Given the description of an element on the screen output the (x, y) to click on. 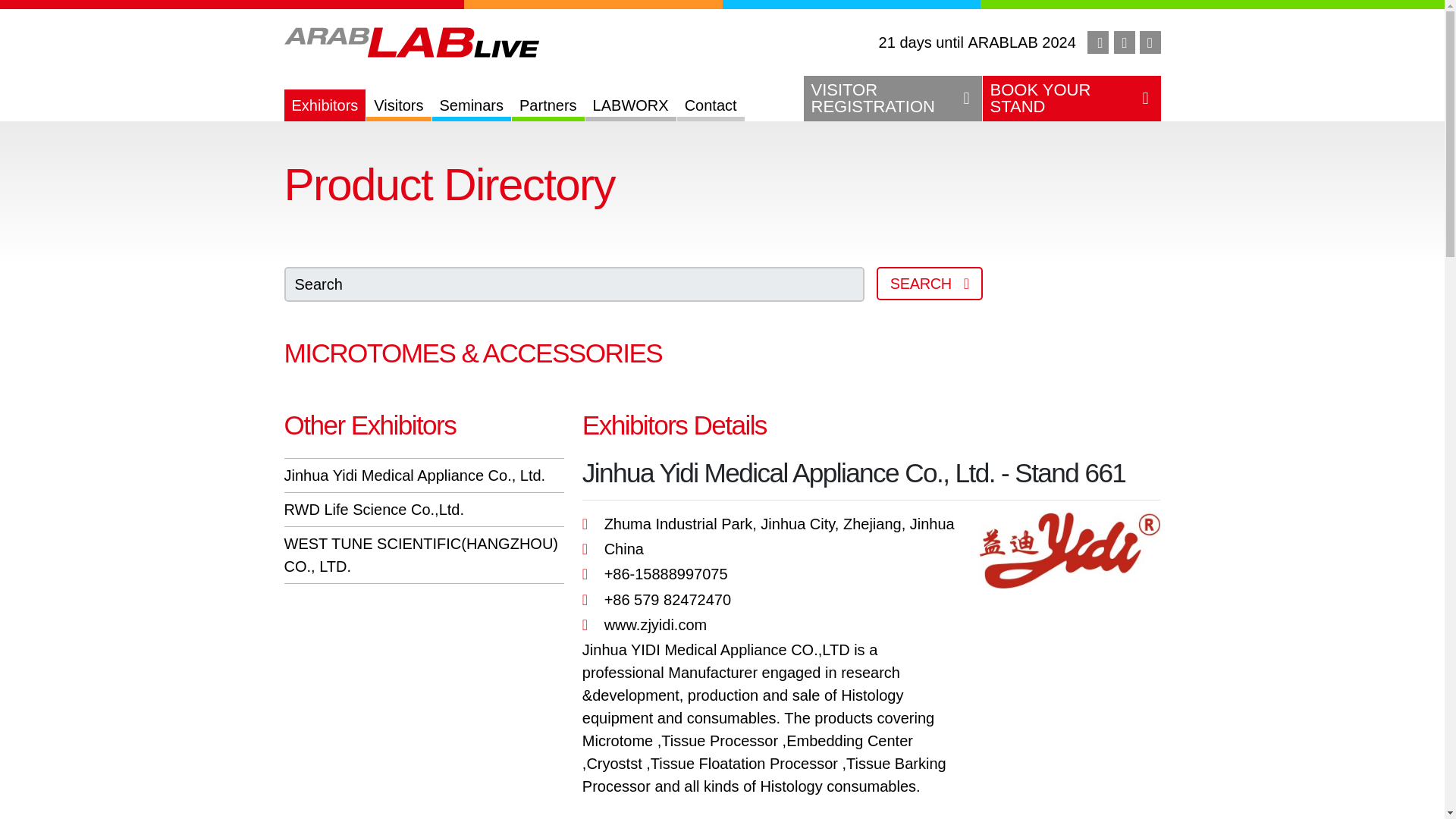
Partners (548, 105)
Jinhua Yidi Medical Appliance Co., Ltd. (413, 475)
linkedin (1124, 42)
Exhibitors (324, 105)
Contact (710, 105)
x (892, 98)
Seminars (1149, 42)
RWD Life Science Co.,Ltd. (471, 105)
